Given the description of an element on the screen output the (x, y) to click on. 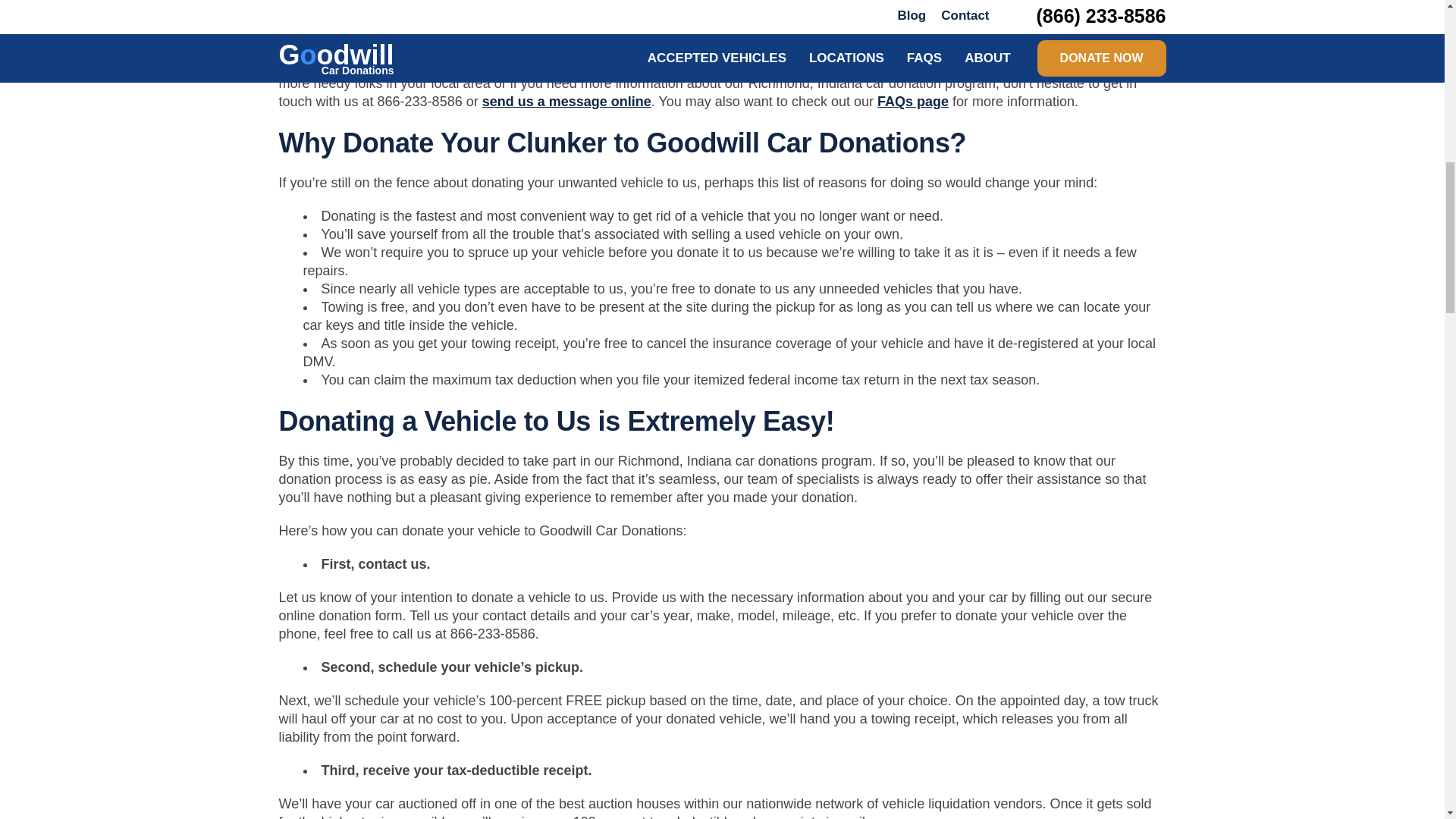
FAQs page (913, 101)
send us a message online (565, 101)
